Given the description of an element on the screen output the (x, y) to click on. 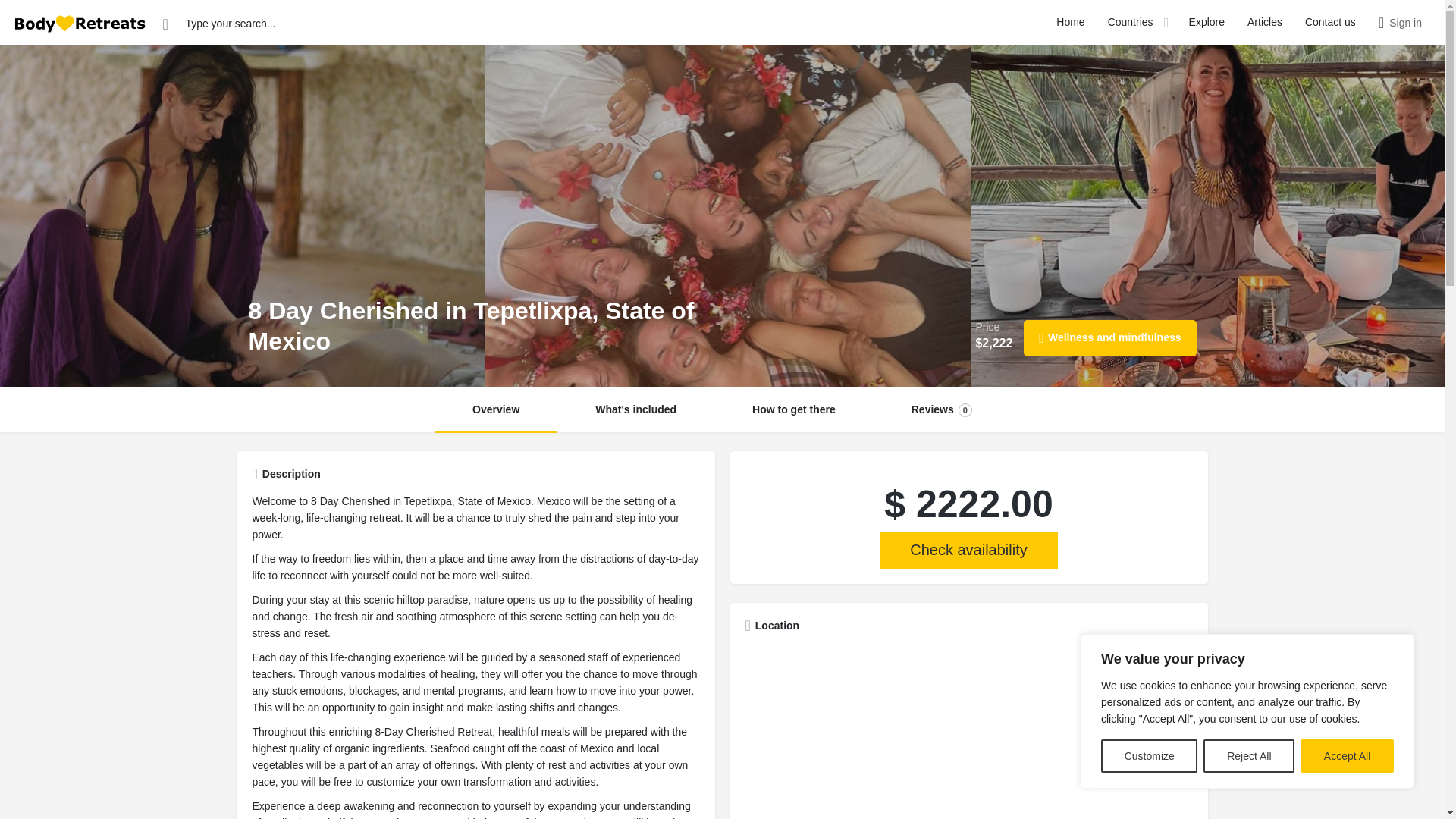
Reject All (1249, 756)
Customize (1148, 756)
Contact us (1329, 22)
Articles (1264, 22)
Home (1070, 22)
Sign in (1405, 22)
Accept All (1346, 756)
Explore (1206, 22)
